Given the description of an element on the screen output the (x, y) to click on. 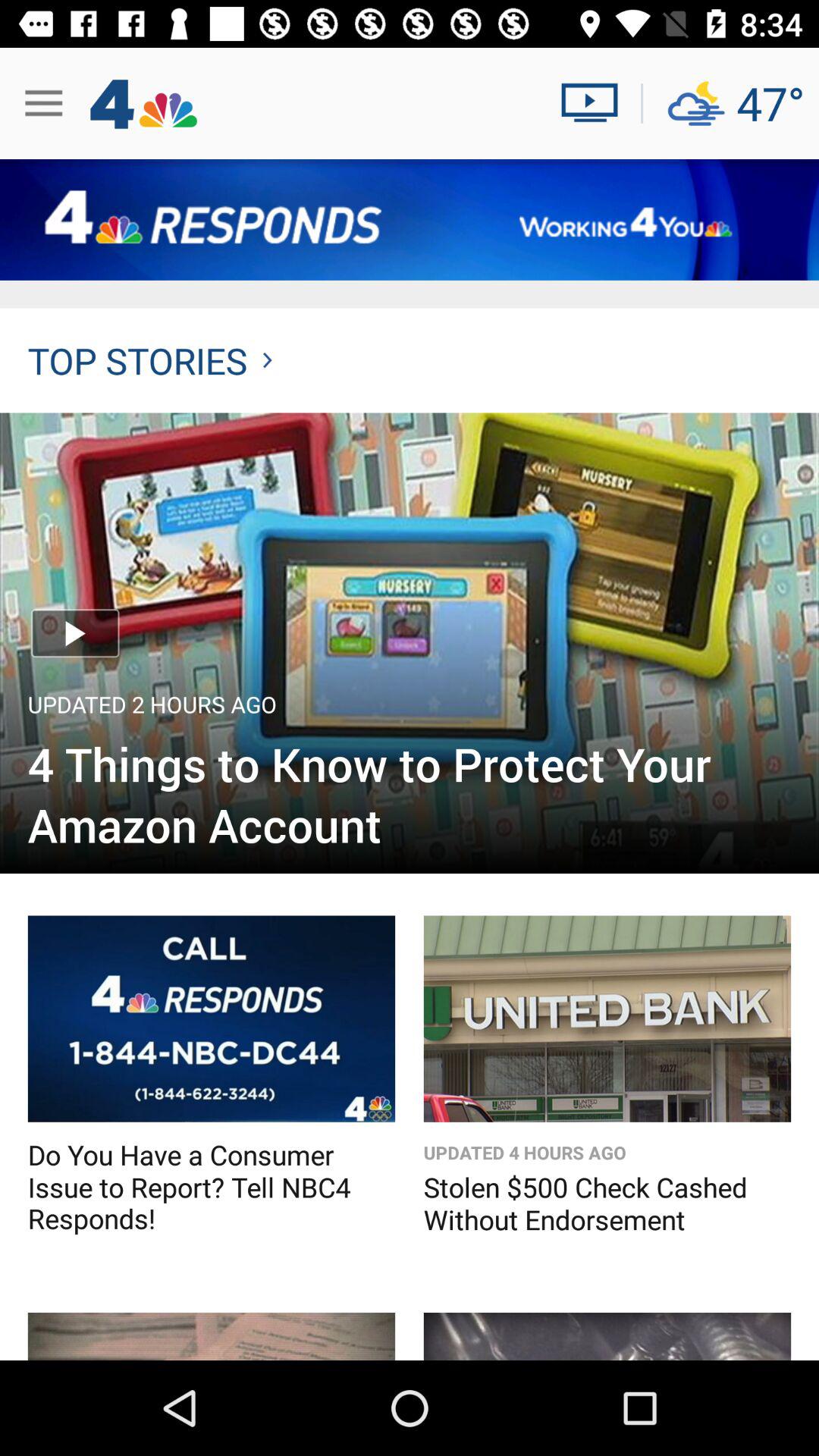
flip until top stories icon (149, 360)
